Given the description of an element on the screen output the (x, y) to click on. 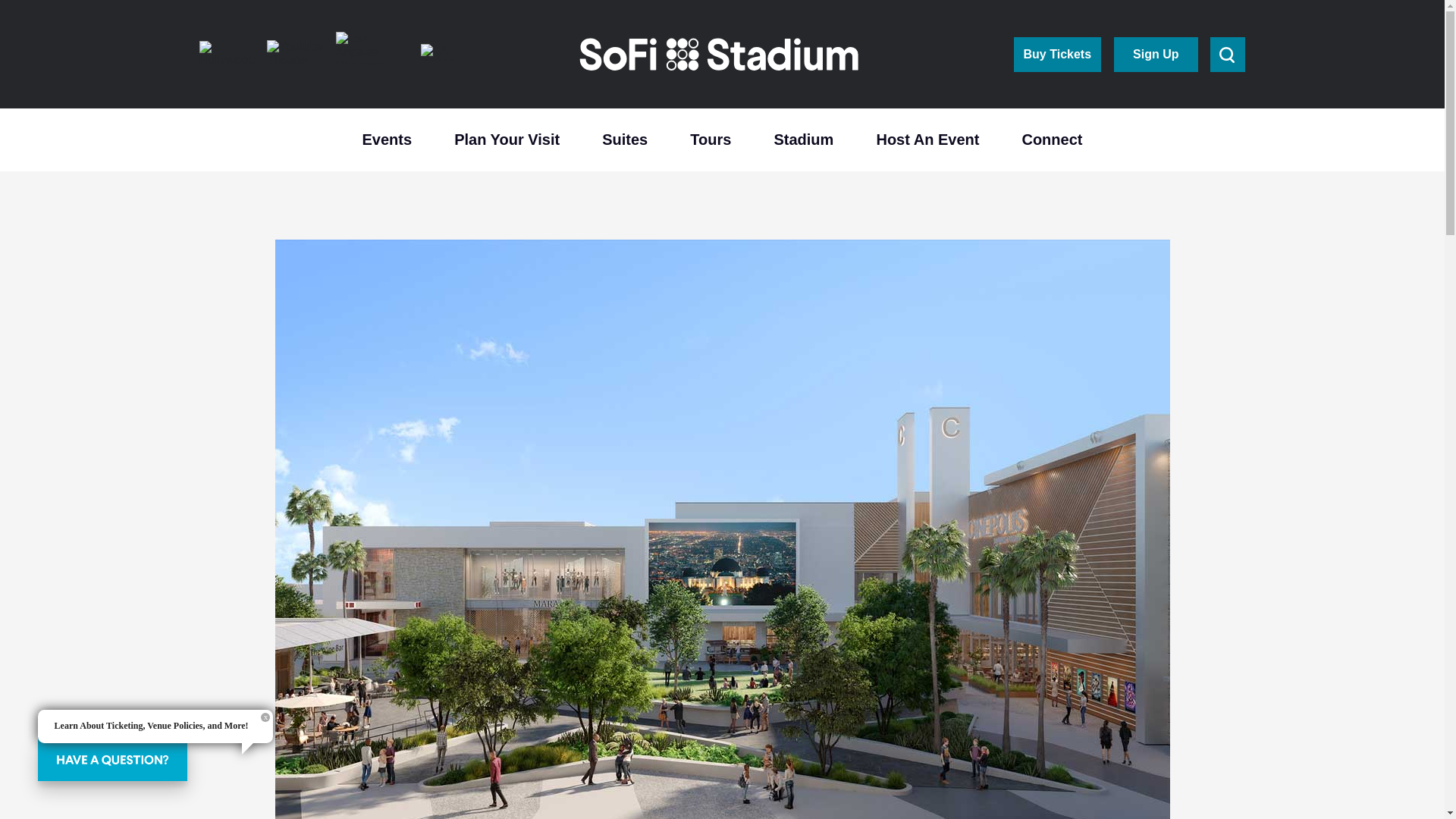
SoFi Stadium (720, 54)
Events (387, 138)
Buy Tickets (1057, 53)
Sign Up (1154, 53)
Buy Tickets (1057, 53)
App (1154, 53)
Plan Your Visit (506, 138)
Suites (624, 138)
